Given the description of an element on the screen output the (x, y) to click on. 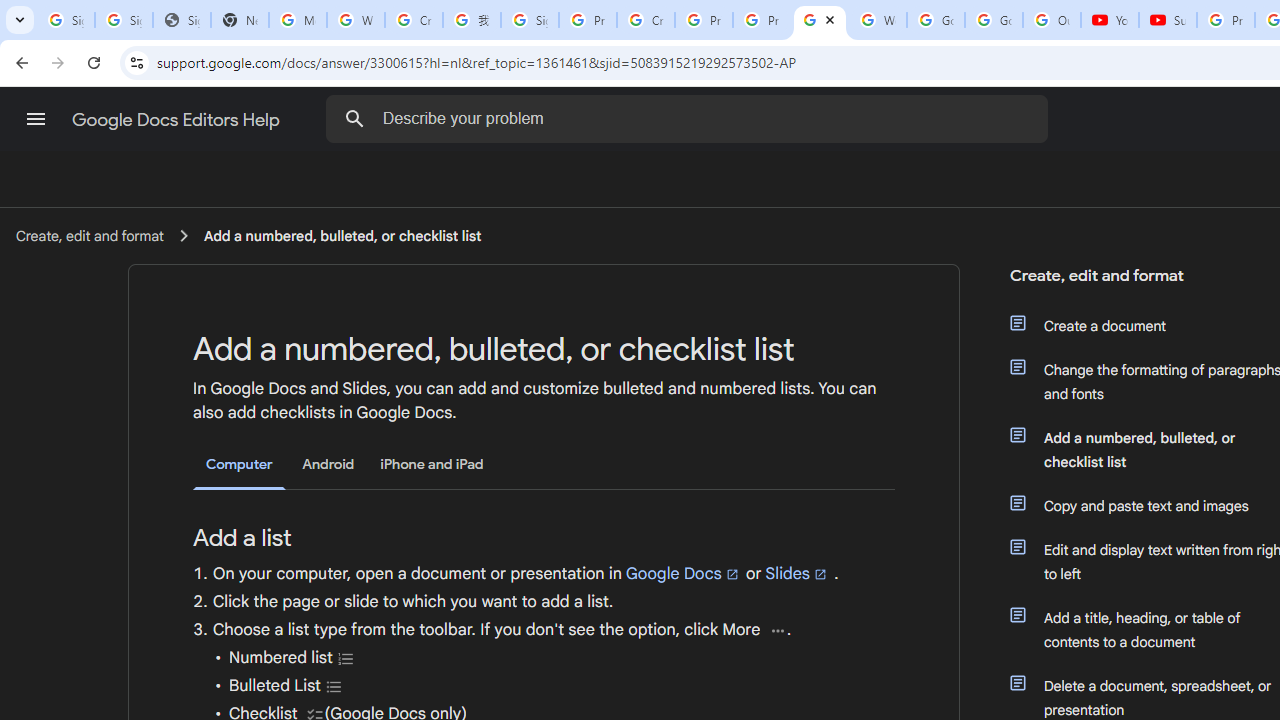
New Tab (239, 20)
Slides (797, 573)
iPhone and iPad (431, 464)
Sign in - Google Accounts (529, 20)
Sign In - USA TODAY (181, 20)
Create your Google Account (645, 20)
Create, edit and format (89, 235)
YouTube (1110, 20)
Add a numbered, bulleted, or checklist list (342, 235)
Computer (239, 465)
